Given the description of an element on the screen output the (x, y) to click on. 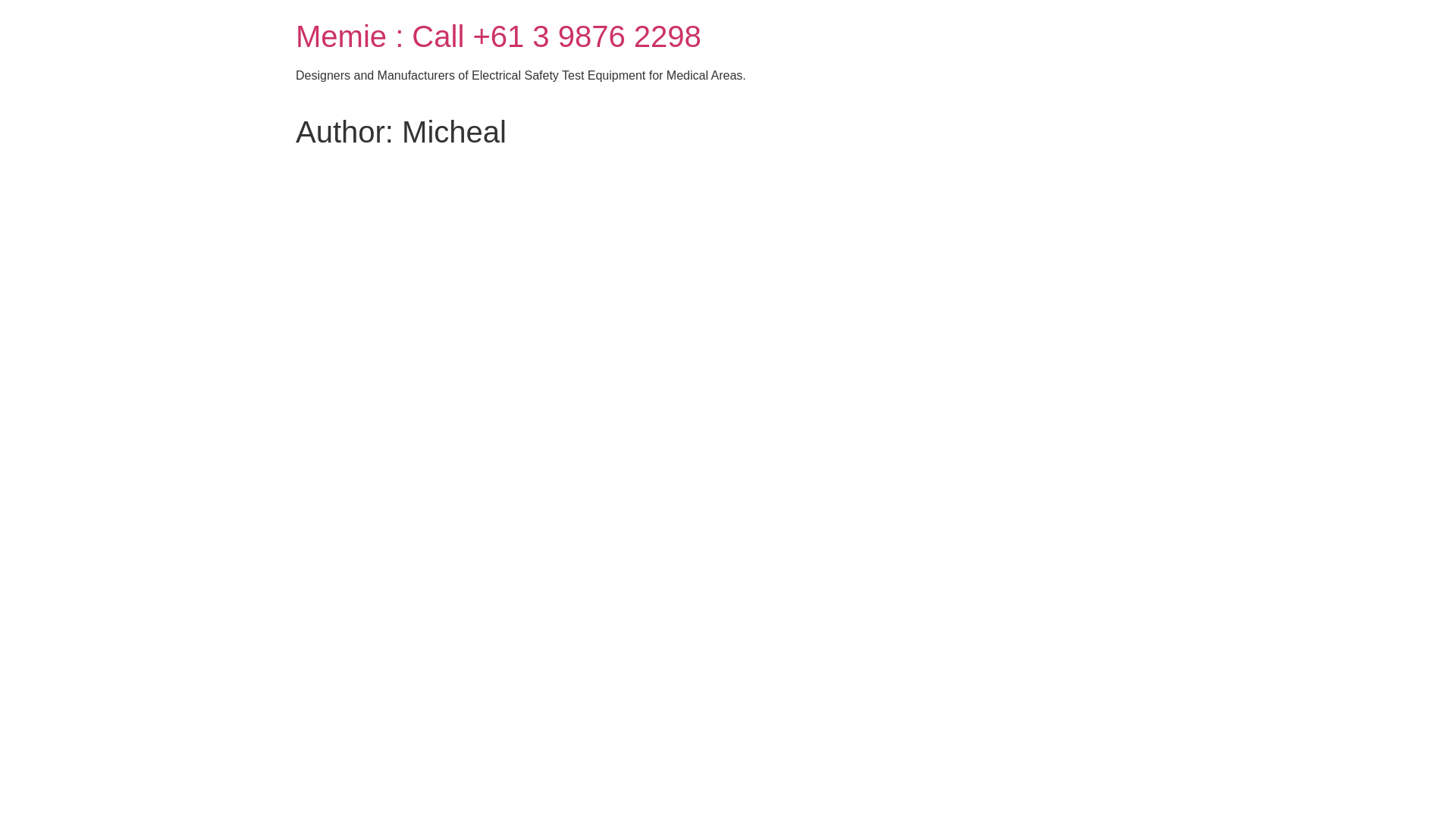
Memie : Call +61 3 9876 2298 Element type: text (498, 36)
